Given the description of an element on the screen output the (x, y) to click on. 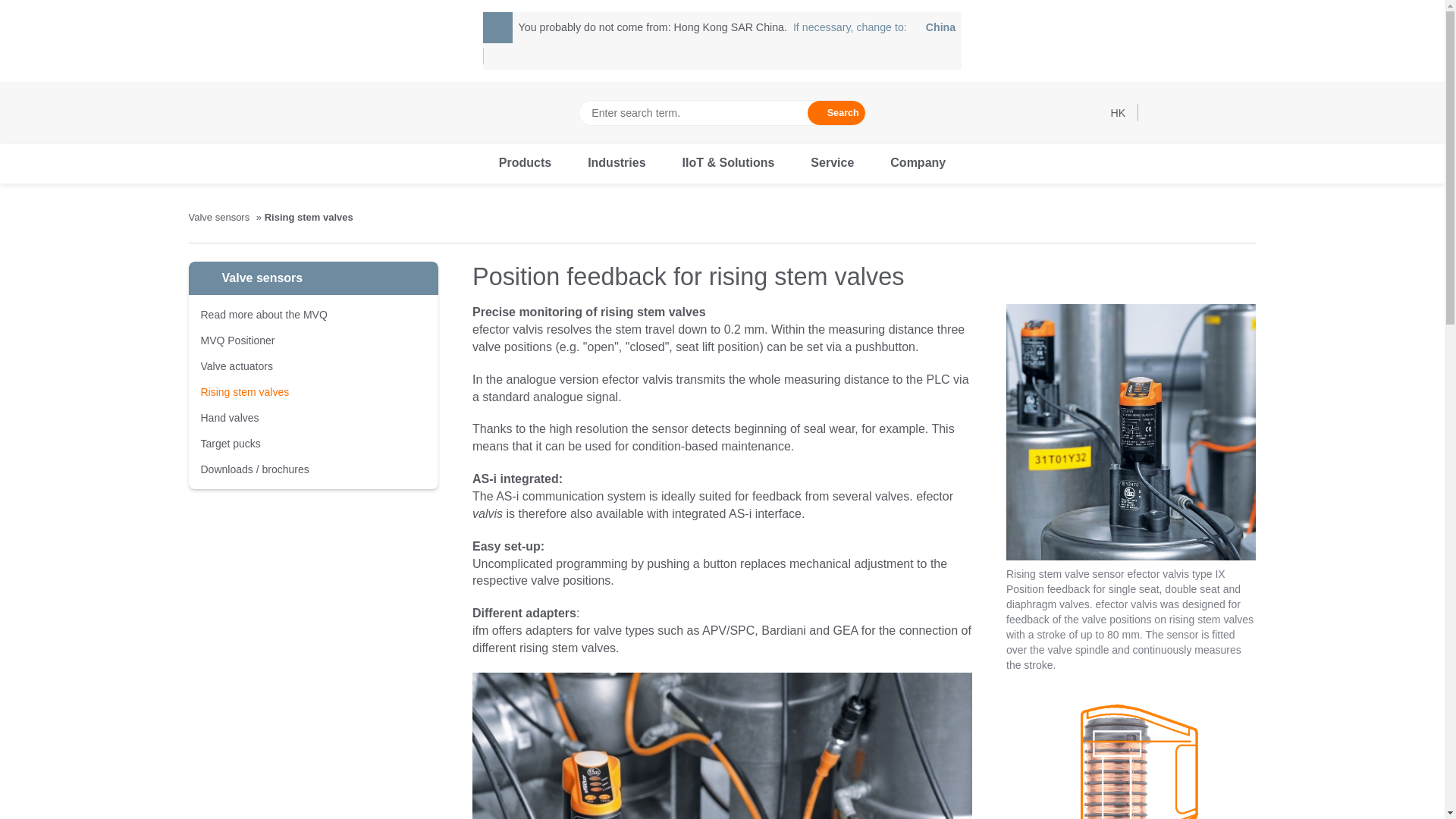
Read more about the MVQ (263, 314)
my ifm (1158, 112)
Product comparison (1218, 112)
Valve sensors (874, 27)
Rising stem valves (219, 216)
Products (244, 391)
Valve actuators (524, 163)
Target pucks (236, 366)
Hand valves (230, 443)
Go to homepage (229, 417)
Service (209, 112)
Shopping basket (832, 163)
my favourites (1247, 112)
HK (1187, 112)
